Given the description of an element on the screen output the (x, y) to click on. 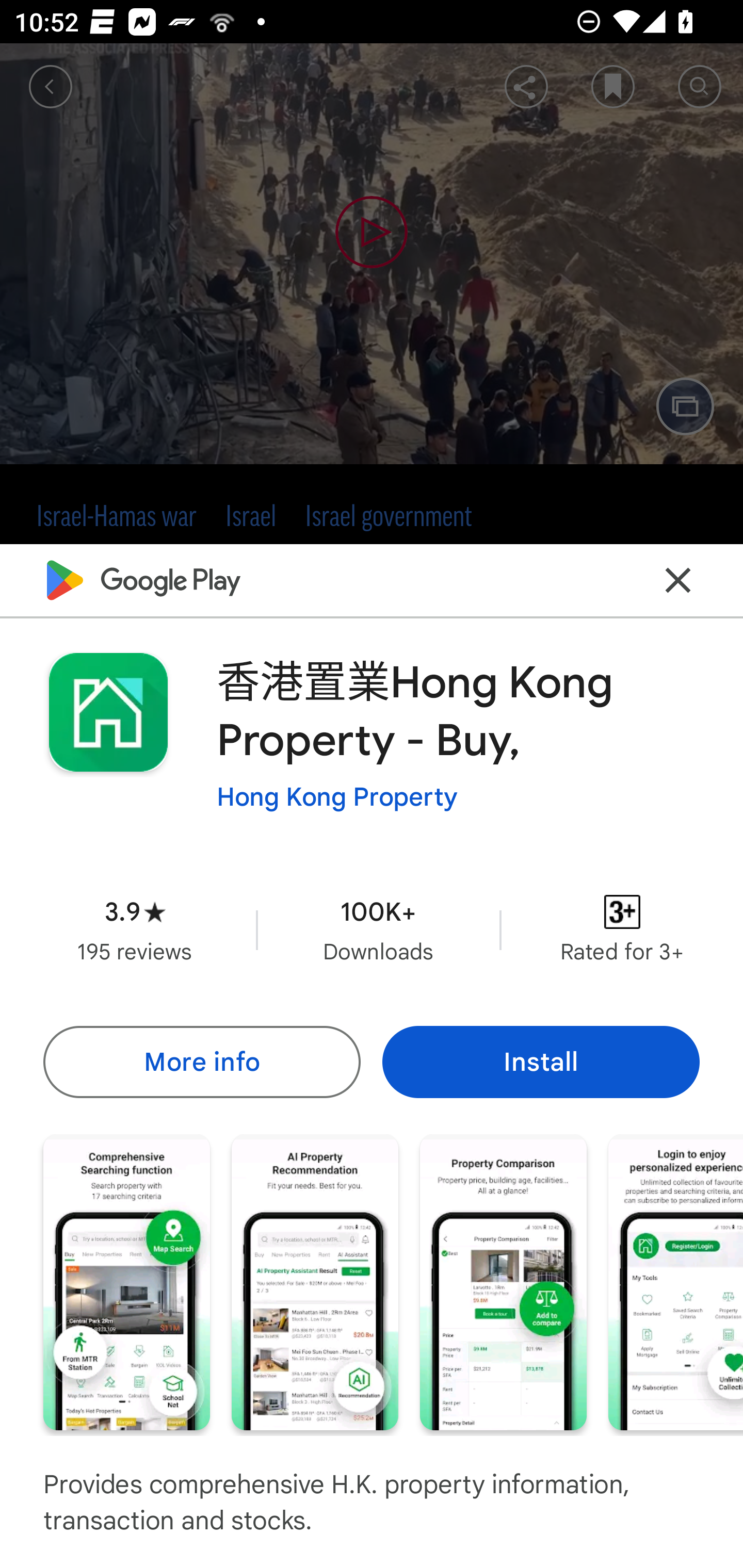
Close (677, 580)
Hong Kong Property (337, 796)
More info (201, 1061)
Install (540, 1061)
Screenshot "1" of "7" (126, 1281)
Screenshot "2" of "7" (314, 1281)
Screenshot "3" of "7" (502, 1281)
Screenshot "4" of "7" (675, 1281)
